Given the description of an element on the screen output the (x, y) to click on. 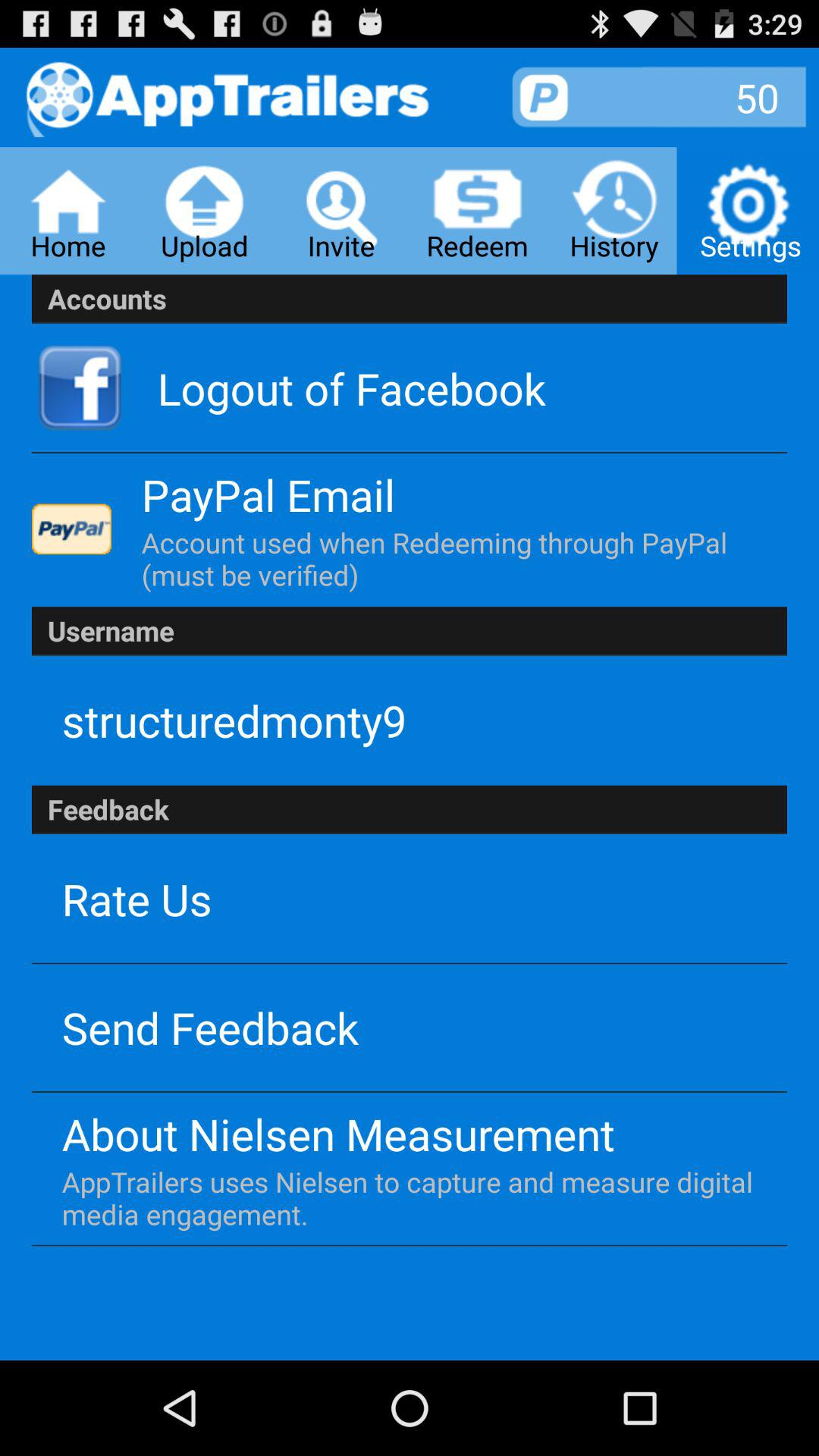
flip until the apptrailers uses nielsen app (408, 1198)
